Given the description of an element on the screen output the (x, y) to click on. 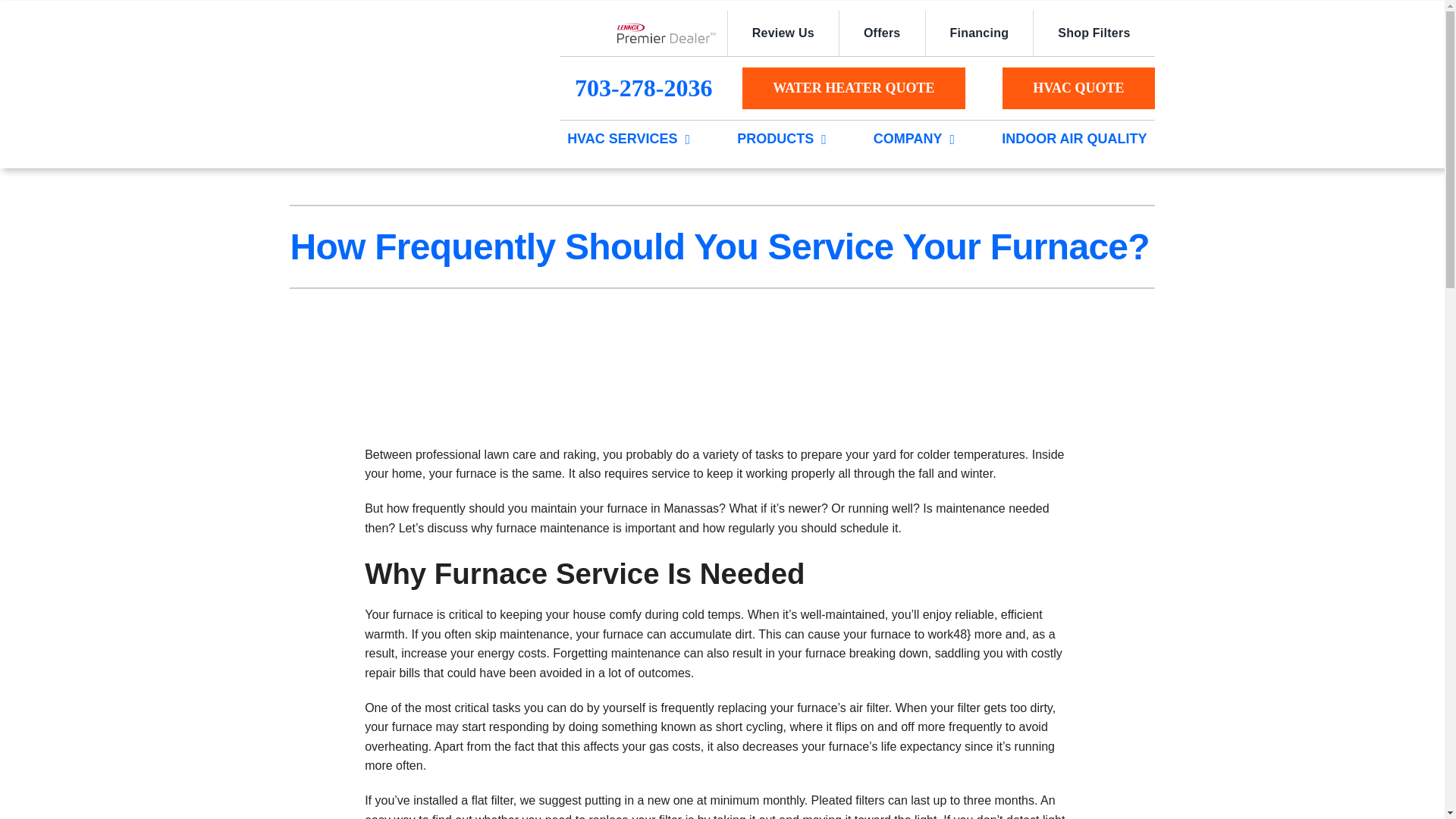
Financing (978, 33)
WATER HEATER QUOTE (852, 87)
HVAC SERVICES (621, 139)
HVAC QUOTE (1078, 87)
Offers (881, 33)
Shop Filters (1093, 33)
Review Us (782, 33)
PRODUCTS (775, 139)
